Given the description of an element on the screen output the (x, y) to click on. 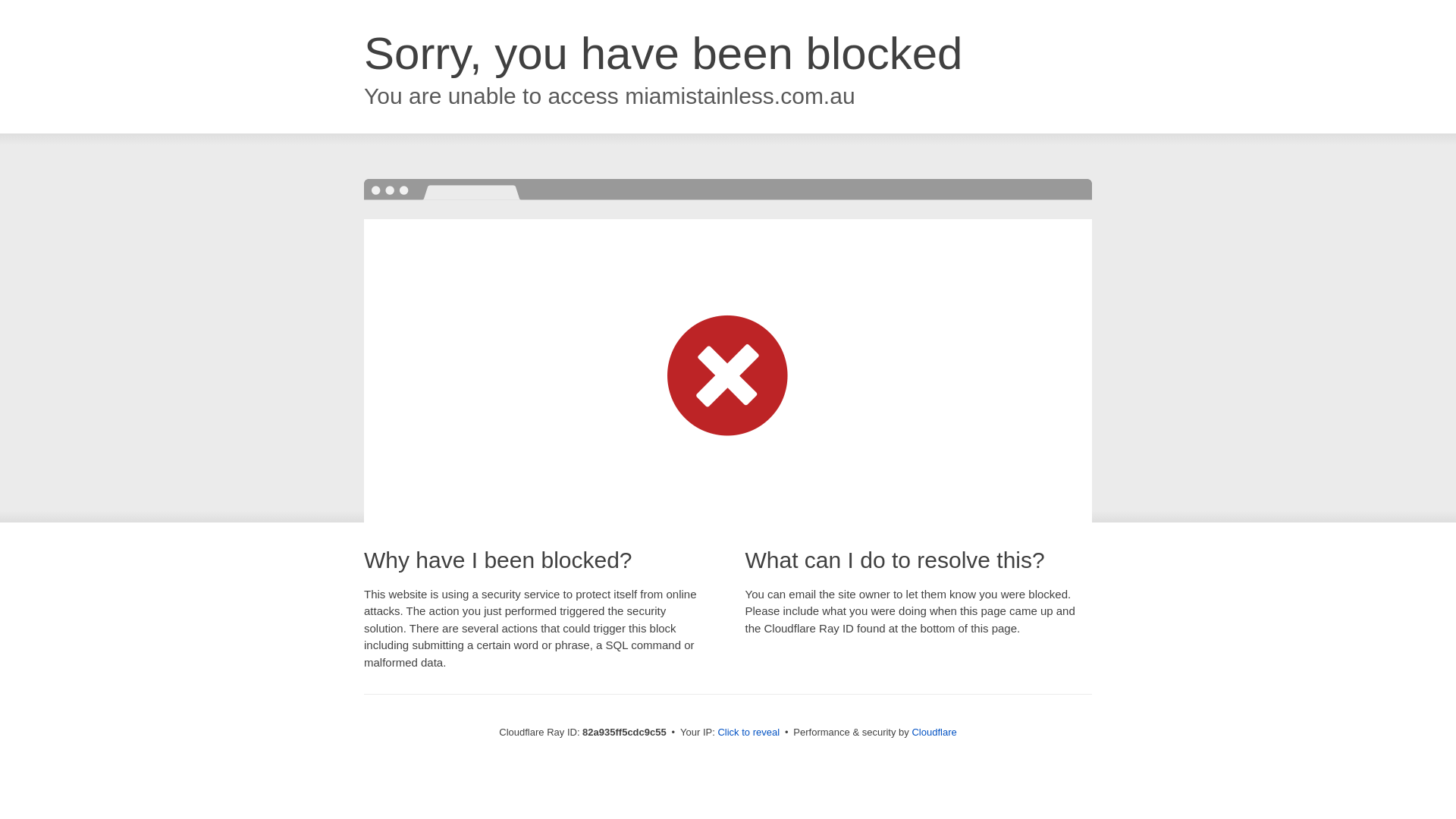
Click to reveal Element type: text (748, 732)
Cloudflare Element type: text (933, 731)
